Given the description of an element on the screen output the (x, y) to click on. 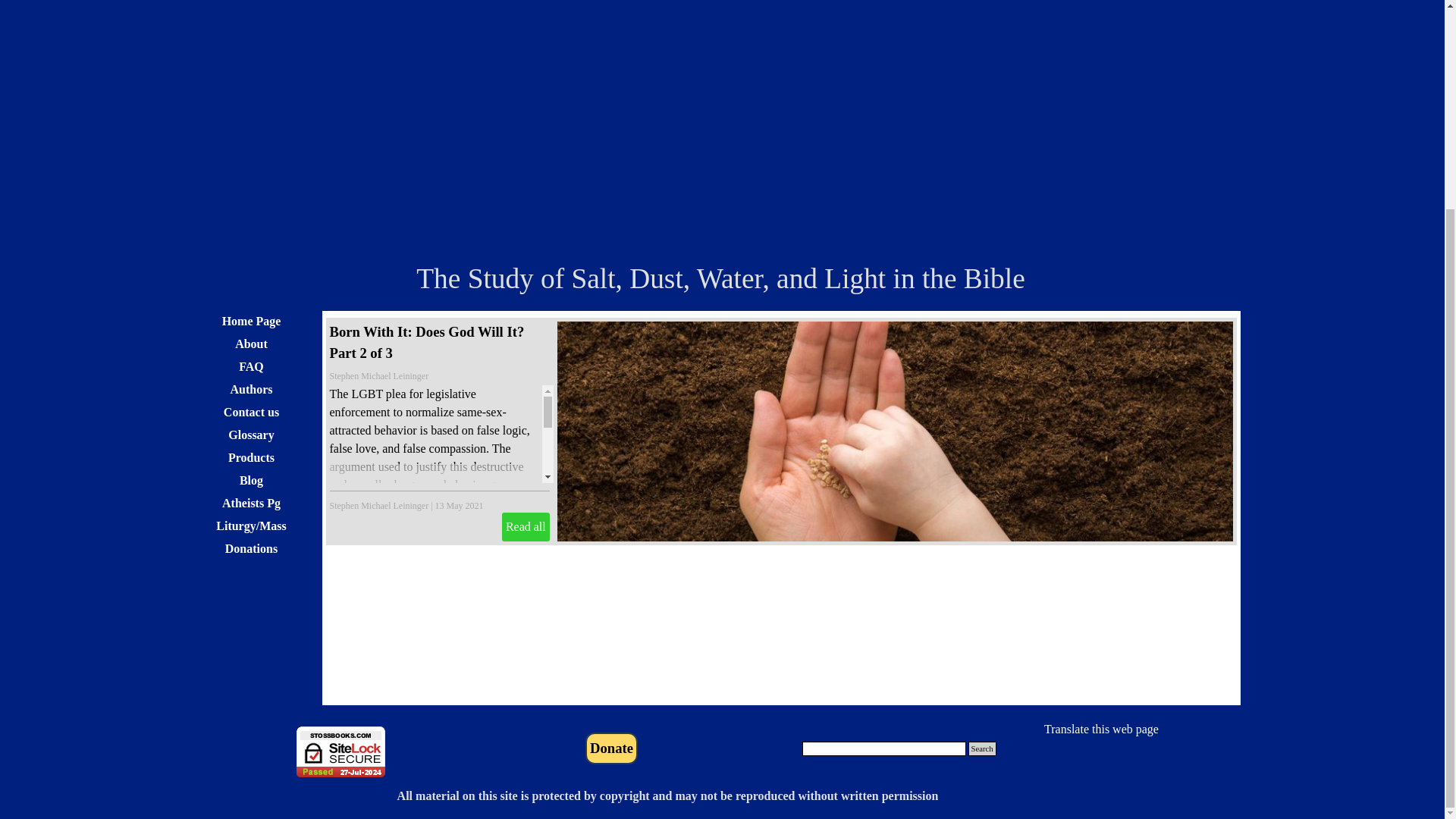
Blog (251, 480)
Contact us (251, 412)
Home Page (251, 321)
FAQ (251, 366)
SiteLock (341, 751)
